Given the description of an element on the screen output the (x, y) to click on. 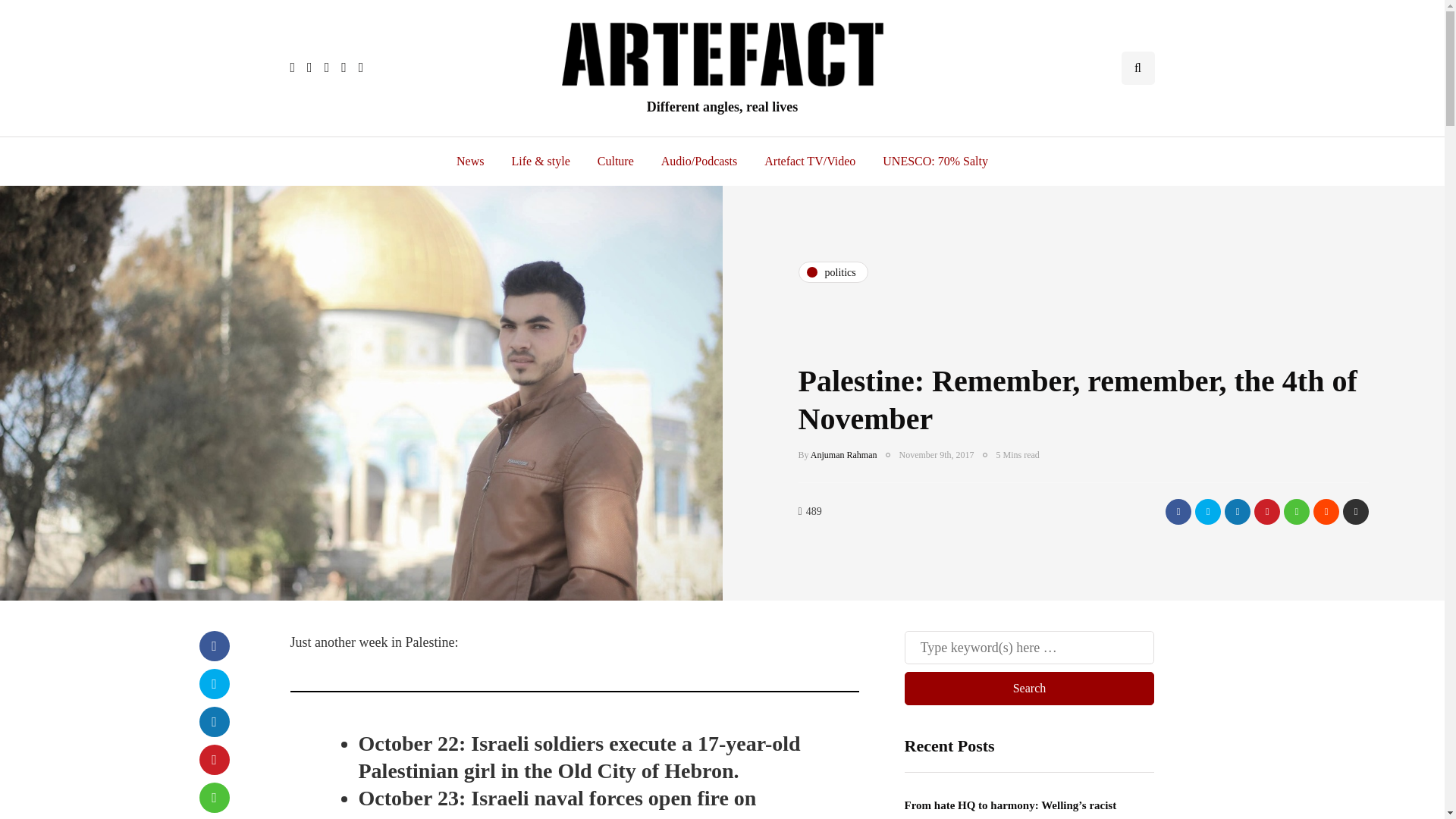
Share by Email (1355, 511)
Pin this (1266, 511)
Share with Facebook (1178, 511)
Share with LinkedIn (213, 721)
Share with Facebook (213, 645)
Share on Reddit (1326, 511)
Tweet this (213, 684)
Culture (615, 161)
Search (1029, 688)
Share with LinkedIn (1237, 511)
Posts by Anjuman Rahman (843, 454)
News (469, 161)
Pin this (213, 759)
Share to WhatsApp (1296, 511)
Tweet this (1208, 511)
